Given the description of an element on the screen output the (x, y) to click on. 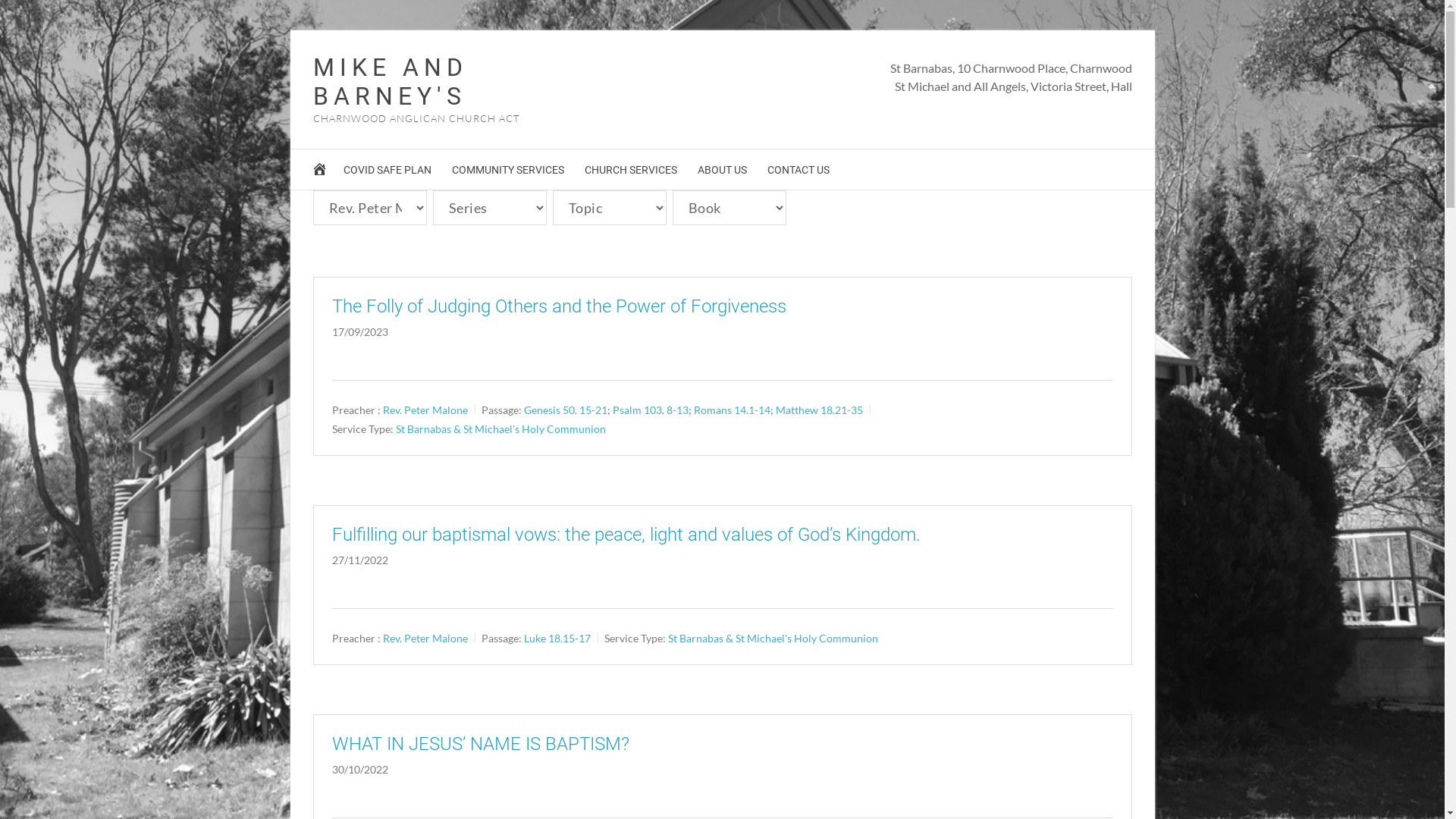
Rev. Peter Malone Element type: text (424, 637)
Genesis 50 Element type: text (548, 409)
15-21 Element type: text (593, 409)
The Folly of Judging Others and the Power of Forgiveness Element type: text (559, 305)
COMMUNITY SERVICES Element type: text (507, 169)
Rev. Peter Malone Element type: text (424, 409)
Matthew 18.21-35 Element type: text (818, 409)
MIKE AND BARNEY'S Element type: text (389, 81)
St Barnabas & St Michael's Holy Communion Element type: text (500, 428)
Psalm 103 Element type: text (637, 409)
CONTACT US Element type: text (798, 169)
CHURCH SERVICES Element type: text (629, 169)
Romans 14.1-14 Element type: text (731, 409)
COVID SAFE PLAN Element type: text (386, 169)
ABOUT US Element type: text (722, 169)
St Barnabas & St Michael's Holy Communion Element type: text (772, 637)
Luke 18.15-17 Element type: text (556, 637)
HOME Element type: text (321, 173)
8-13 Element type: text (676, 409)
